Given the description of an element on the screen output the (x, y) to click on. 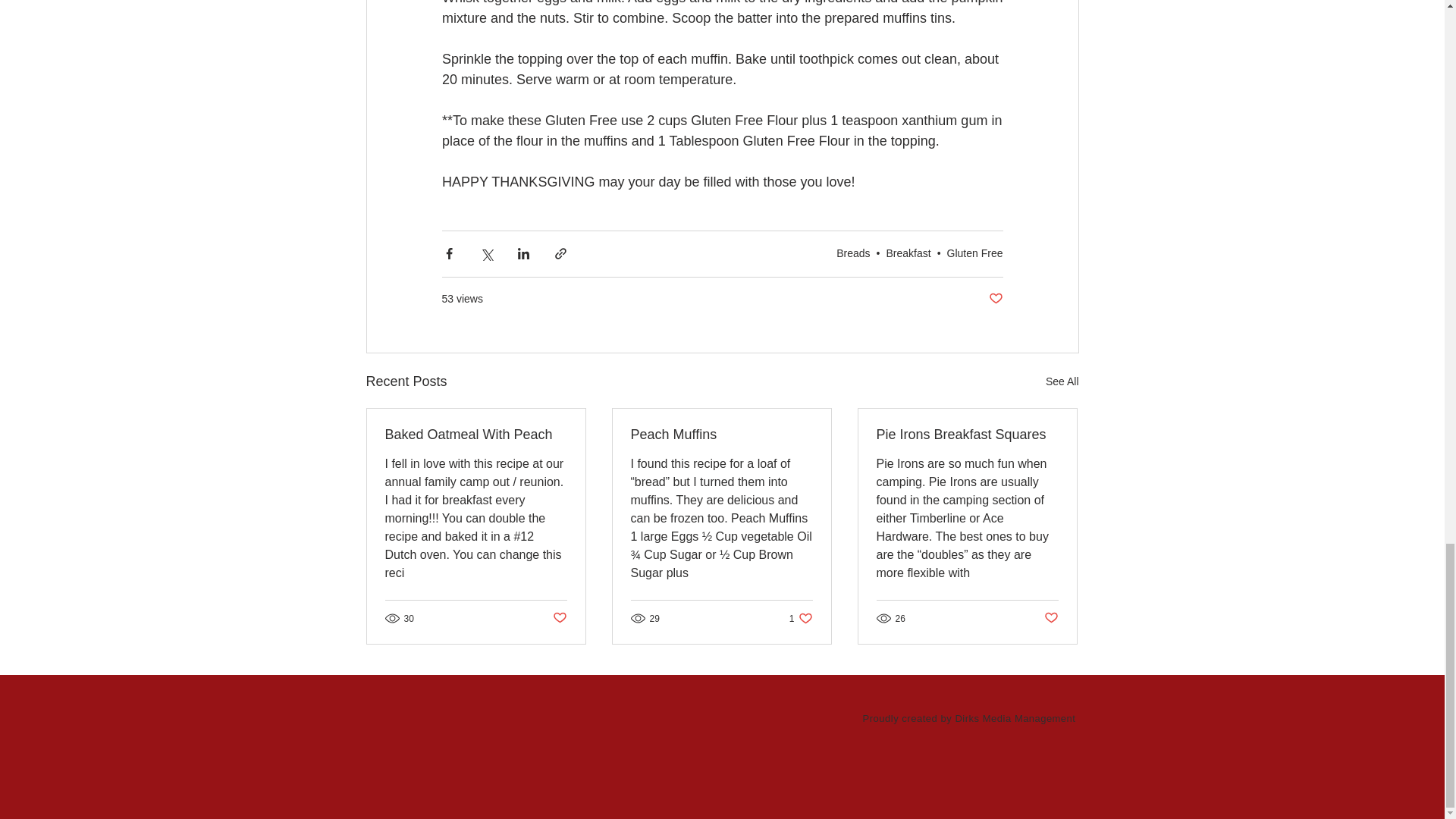
See All (800, 617)
Breads (1061, 382)
Peach Muffins (852, 253)
Gluten Free (721, 434)
Pie Irons Breakfast Squares (975, 253)
Post not marked as liked (967, 434)
Post not marked as liked (558, 618)
Post not marked as liked (995, 299)
Baked Oatmeal With Peach (1050, 618)
